Given the description of an element on the screen output the (x, y) to click on. 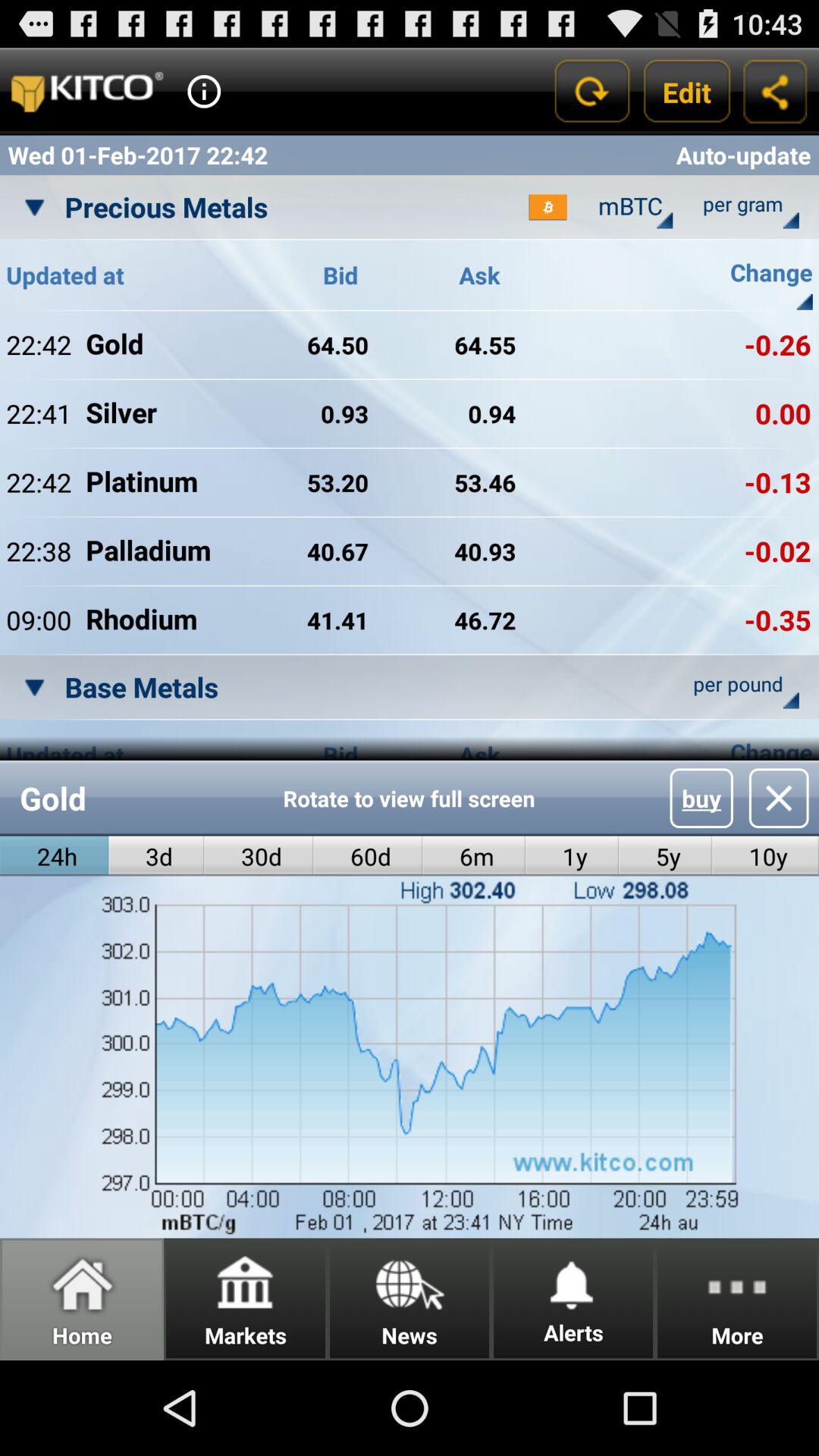
scroll to the 3d icon (156, 856)
